Given the description of an element on the screen output the (x, y) to click on. 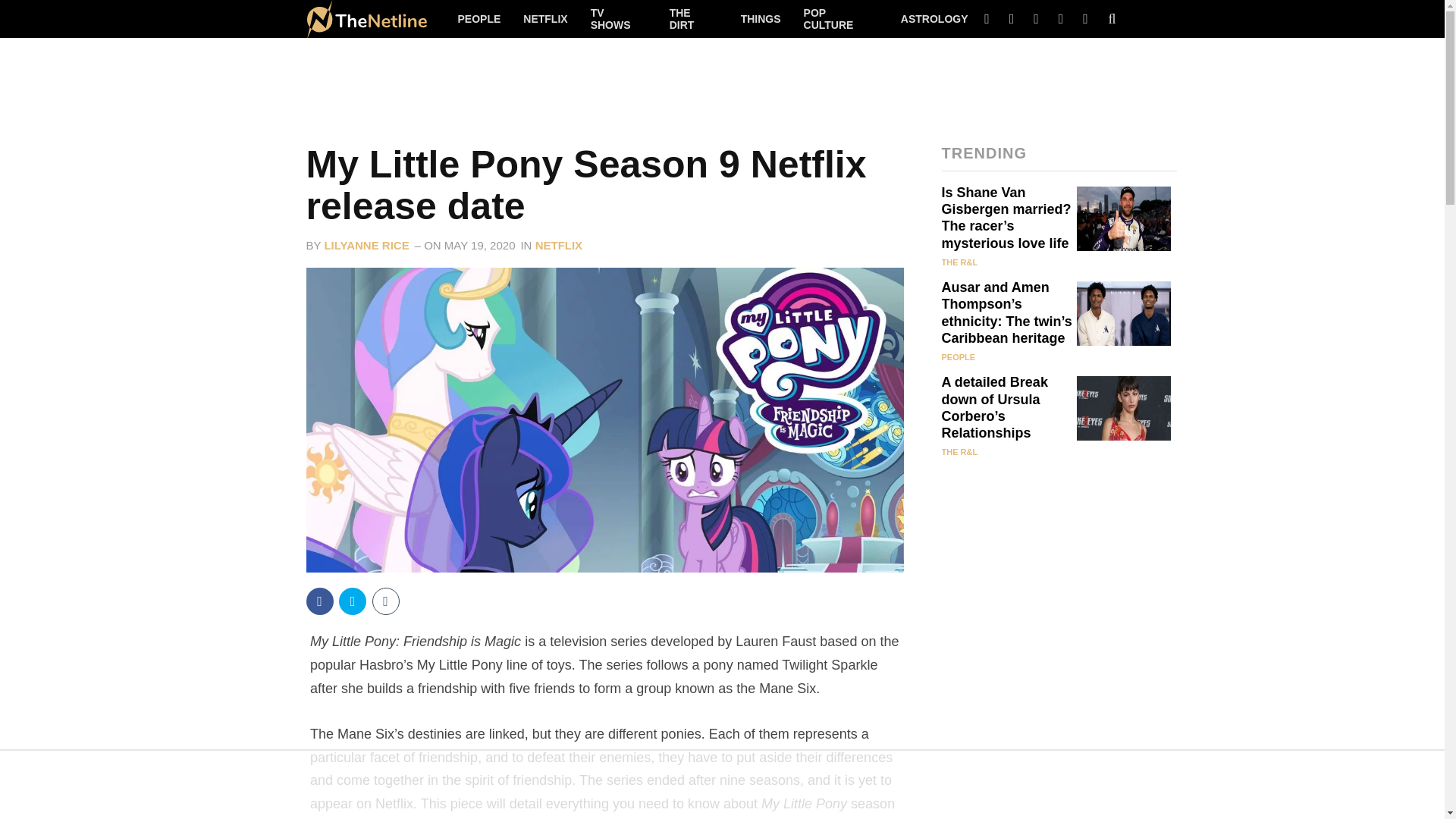
POP CULTURE (840, 18)
LILYANNE RICE (366, 245)
THE DIRT (693, 18)
NETFLIX (545, 18)
TV SHOWS (618, 18)
PEOPLE (478, 18)
THINGS (761, 18)
NETFLIX (559, 245)
ASTROLOGY (934, 18)
